Given the description of an element on the screen output the (x, y) to click on. 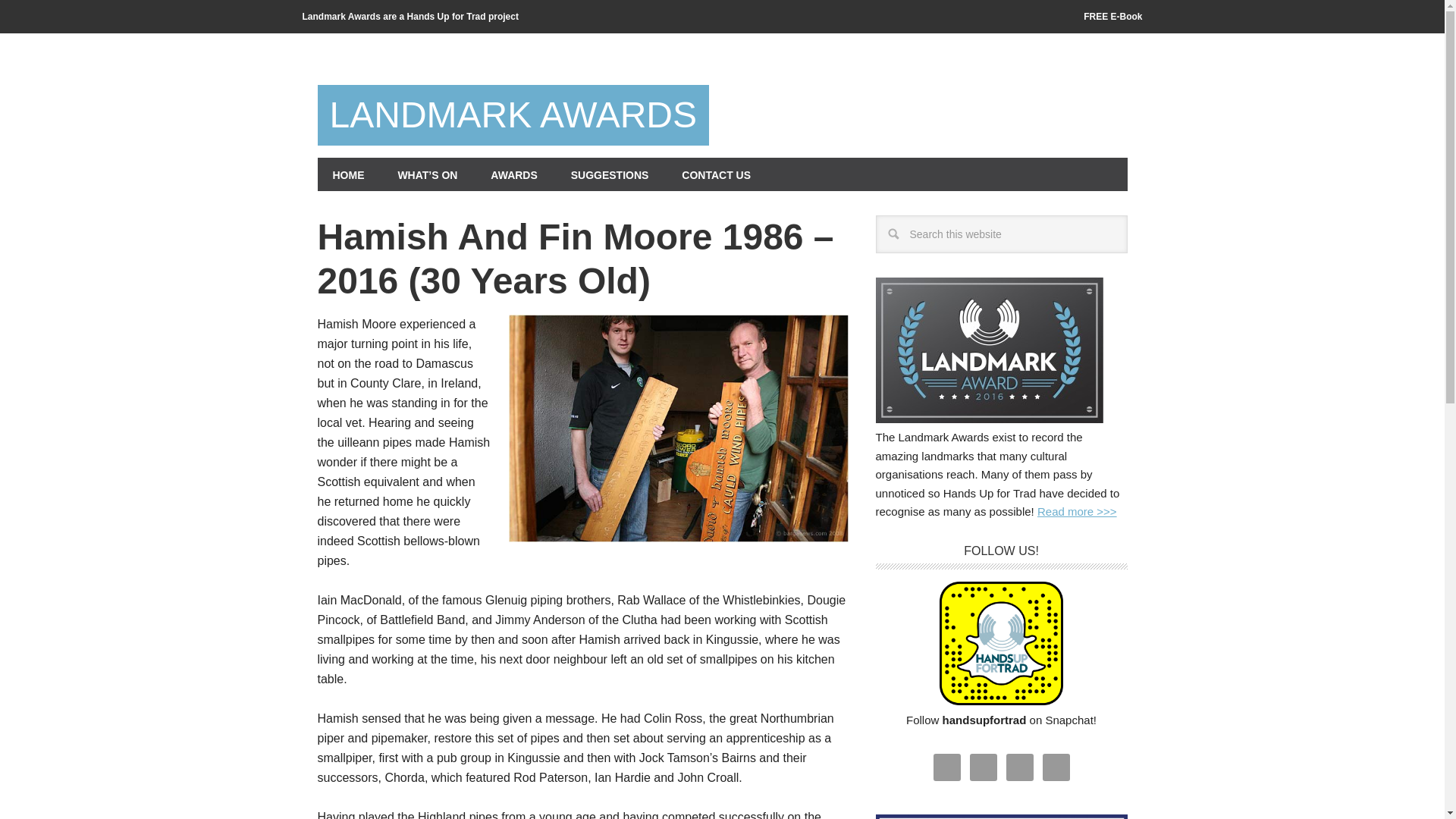
HOME (347, 174)
AWARDS (513, 174)
CONTACT US (715, 174)
LANDMARK AWARDS (513, 115)
FREE E-Book (1112, 16)
SUGGESTIONS (609, 174)
Landmark Awards are a Hands Up for Trad project (409, 16)
